Given the description of an element on the screen output the (x, y) to click on. 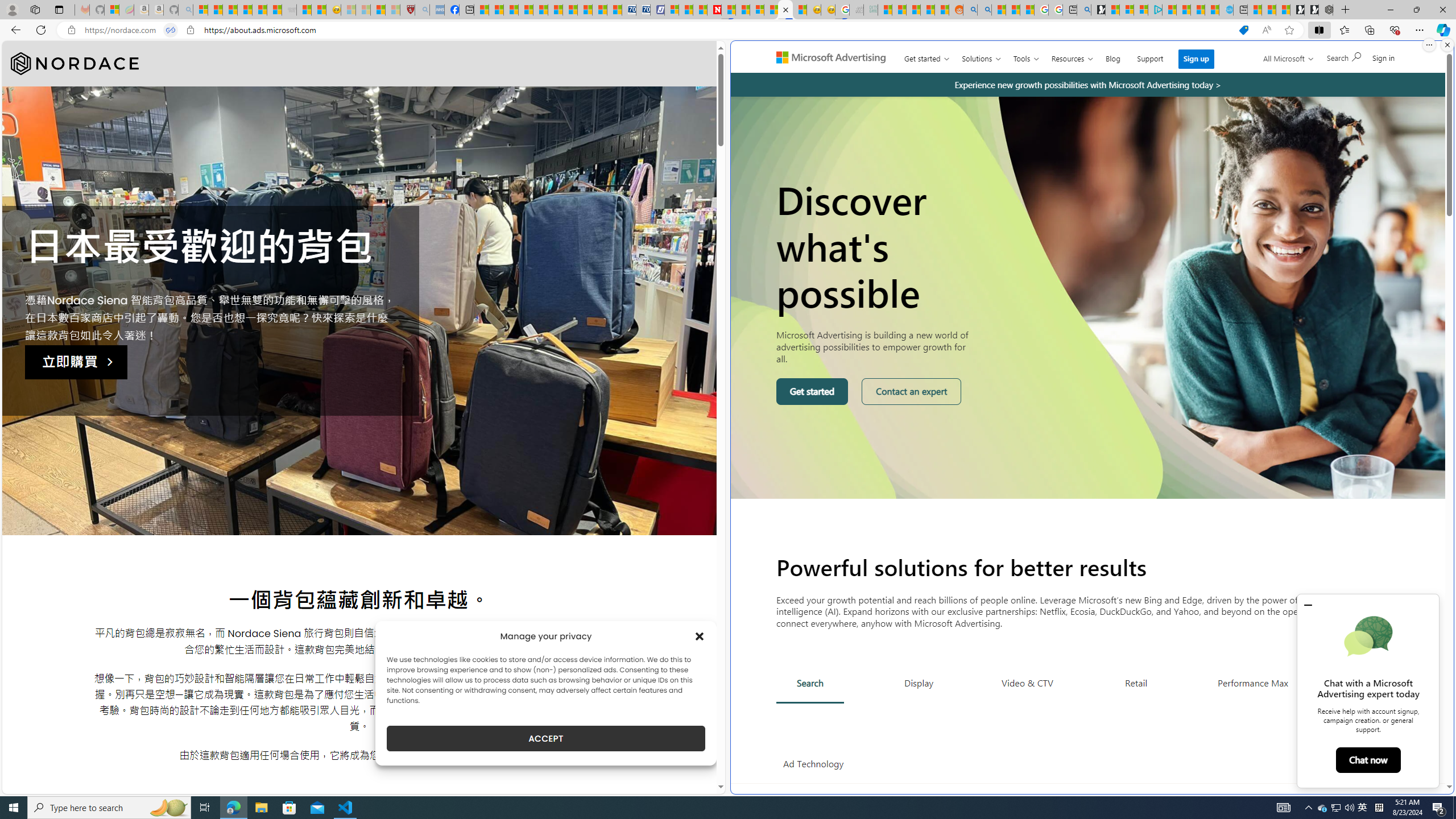
Tabs in split screen (170, 29)
Performance Max (1252, 682)
Get started (812, 391)
Create images, get help with writing, and search faster (779, 62)
